Given the description of an element on the screen output the (x, y) to click on. 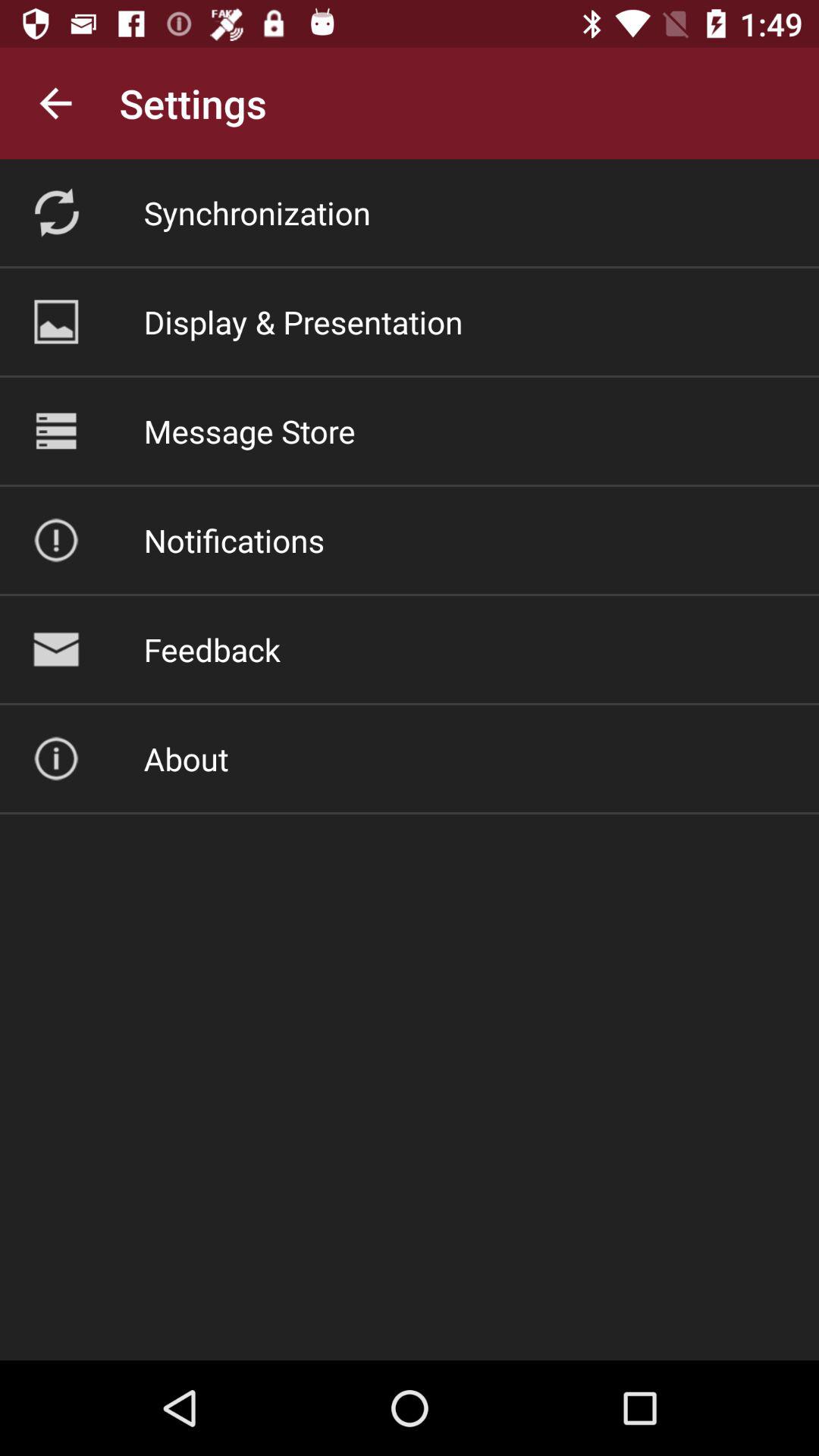
swipe to the message store (249, 430)
